Given the description of an element on the screen output the (x, y) to click on. 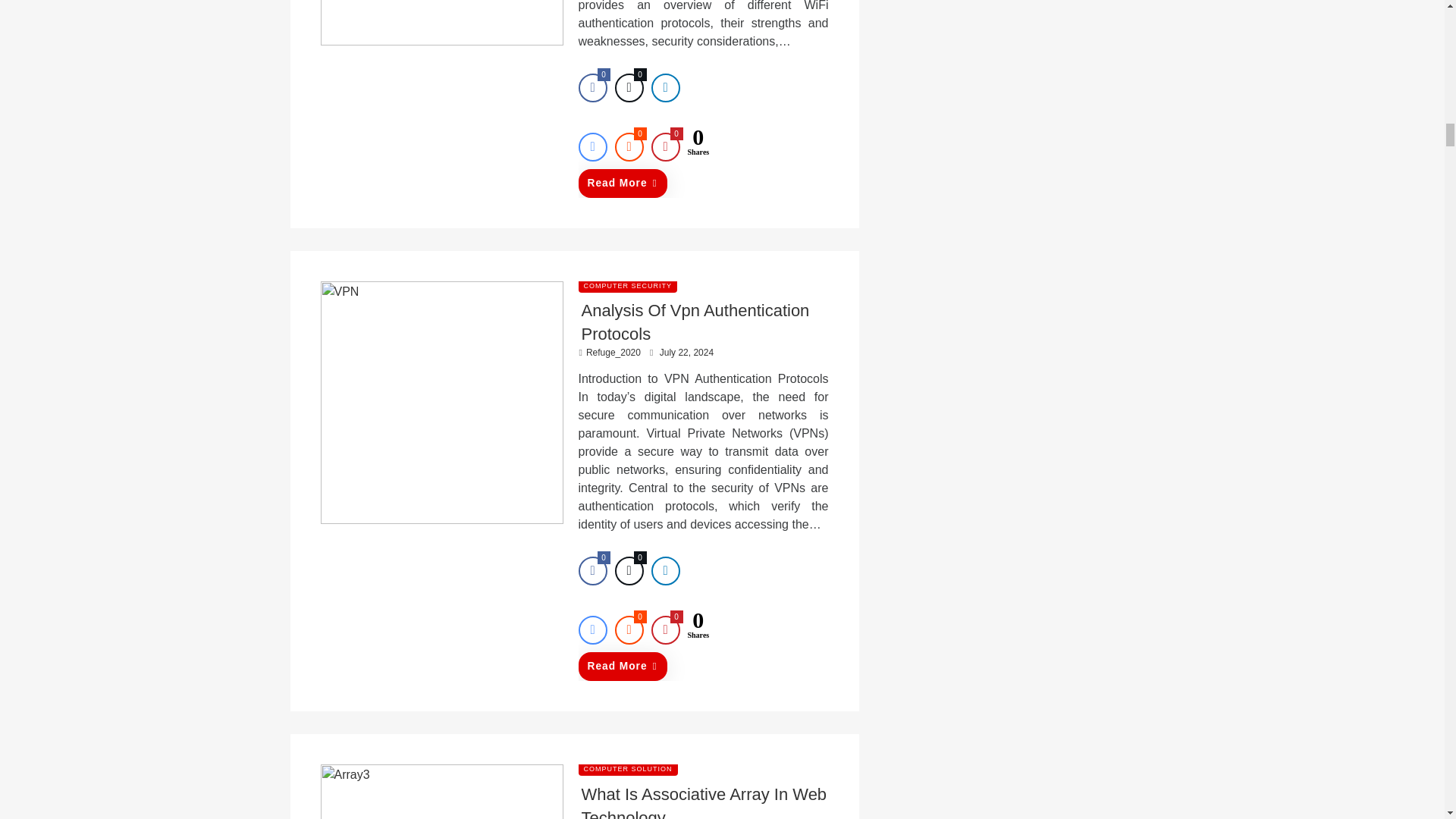
What Is Associative Array In Web Technology 17 (441, 791)
Analysis Of Vpn Authentication Protocols 16 (441, 402)
Wifi Authentication Protocols 15 (441, 22)
